Given the description of an element on the screen output the (x, y) to click on. 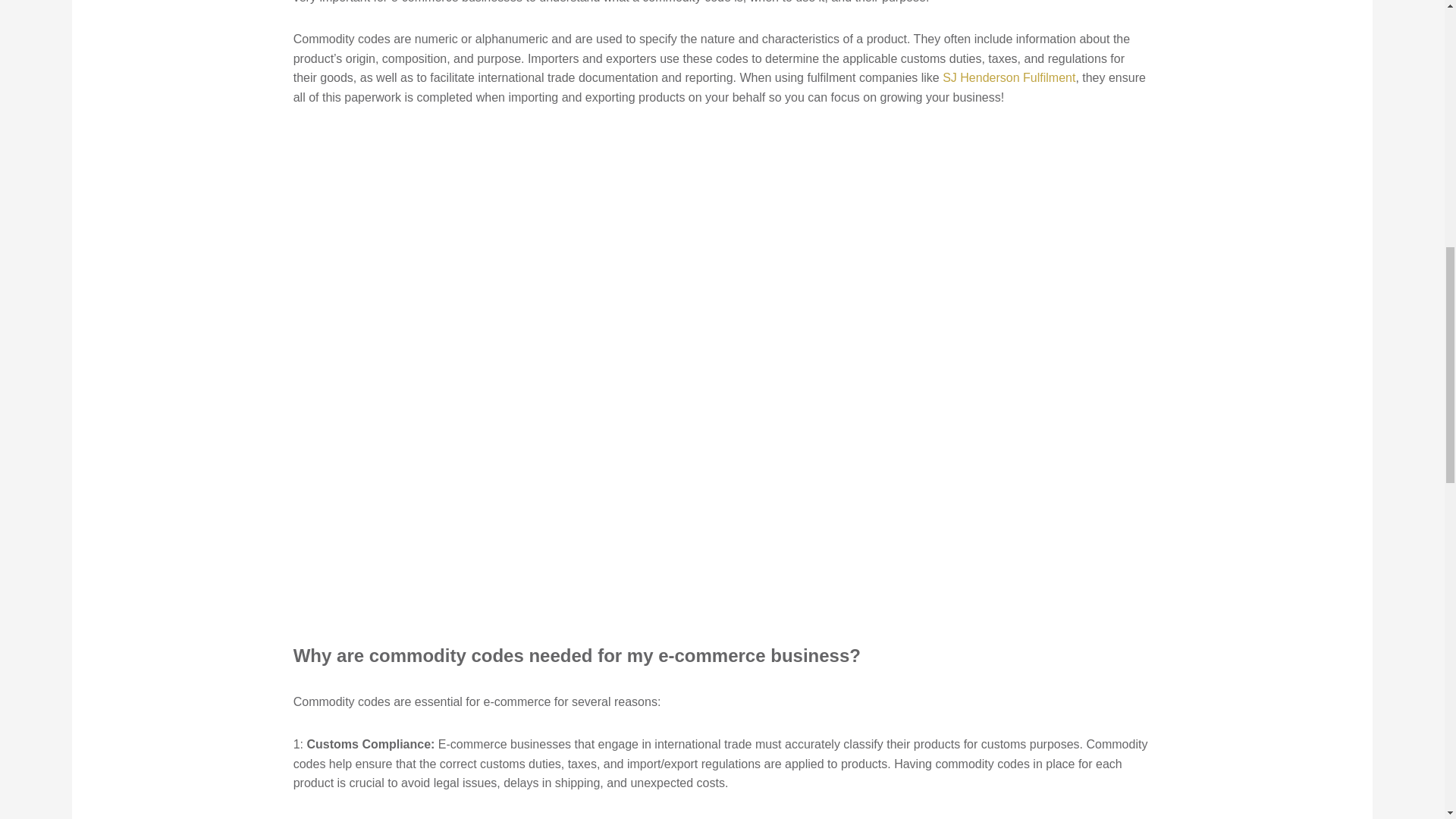
SJ Henderson Fulfilment (1008, 77)
